Given the description of an element on the screen output the (x, y) to click on. 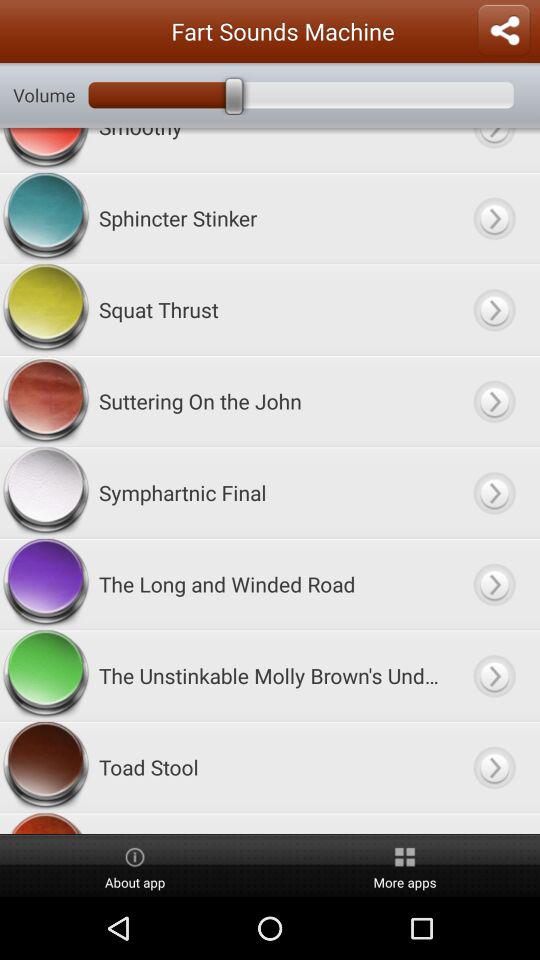
share fart sounds (503, 31)
